Given the description of an element on the screen output the (x, y) to click on. 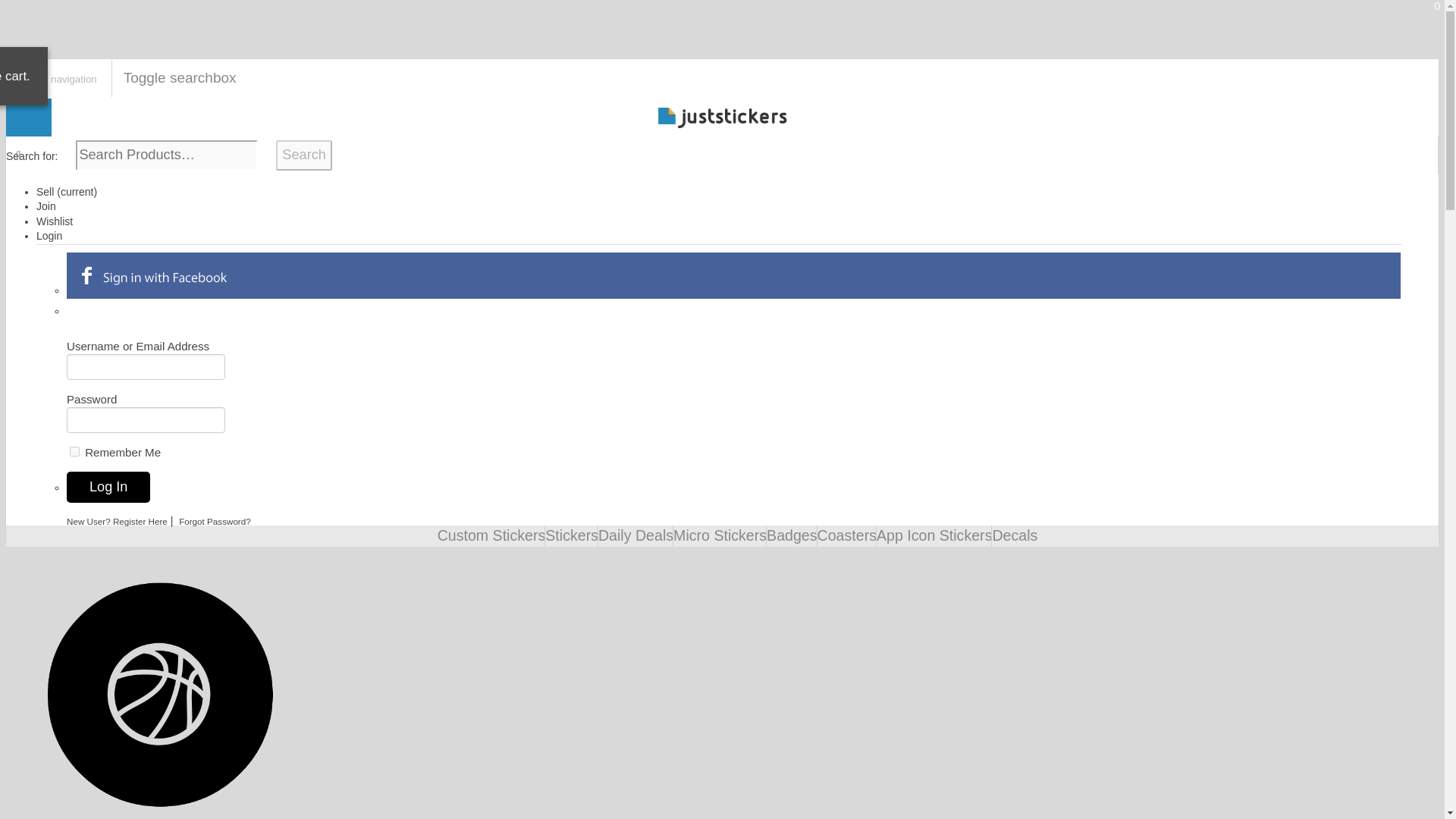
Toggle navigation (56, 79)
Badges (791, 535)
Custom Stickers (492, 535)
Micro Stickers (719, 535)
Log In (107, 486)
Stickers (571, 535)
Search (303, 154)
Login (49, 235)
Forgot Password? (214, 521)
Daily Deals (635, 535)
basketball-decal (159, 695)
0 (27, 117)
Decals (1013, 535)
Toggle searchbox (179, 77)
Search (303, 154)
